Given the description of an element on the screen output the (x, y) to click on. 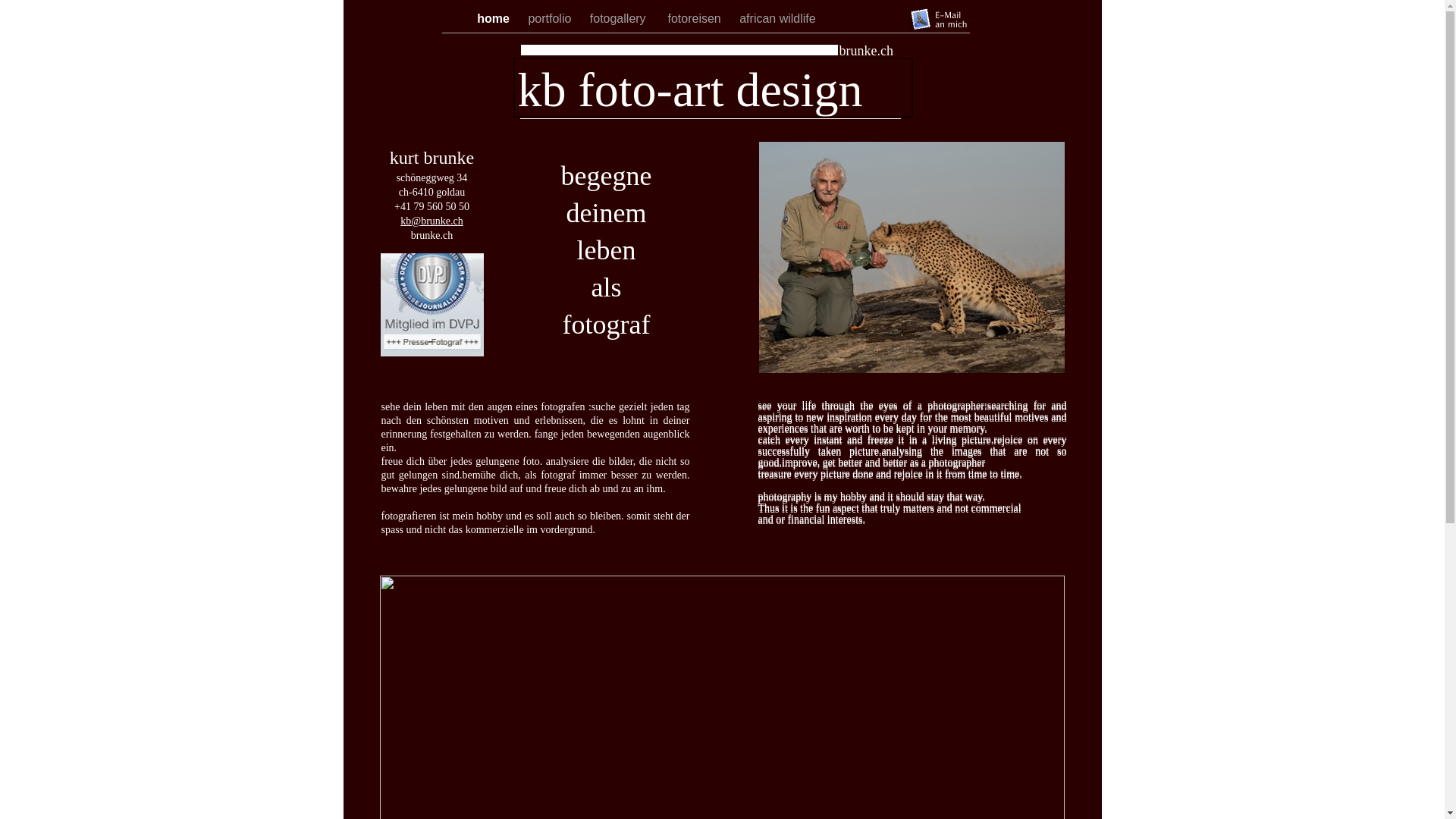
portfolio Element type: text (550, 18)
fotogallery  Element type: text (620, 18)
kb@brunke.ch Element type: text (431, 220)
home Element type: text (494, 18)
african wildlife Element type: text (777, 18)
fotoreisen Element type: text (695, 18)
